Given the description of an element on the screen output the (x, y) to click on. 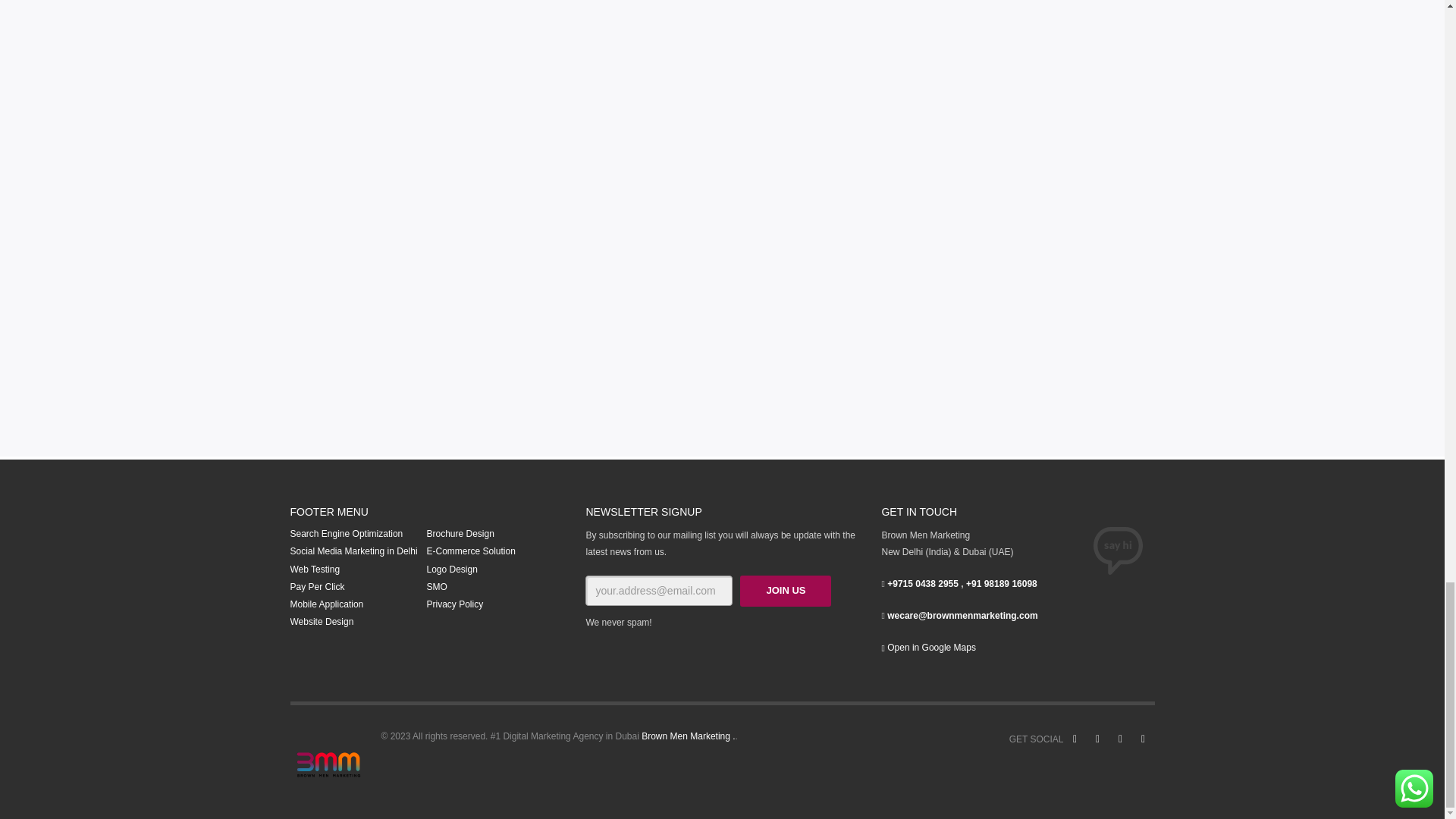
Instagram (1119, 739)
Follow our tweets! (1097, 739)
Check Our Linkedin (1142, 739)
Like us on Facebook! (1074, 739)
JOIN US (785, 590)
